Given the description of an element on the screen output the (x, y) to click on. 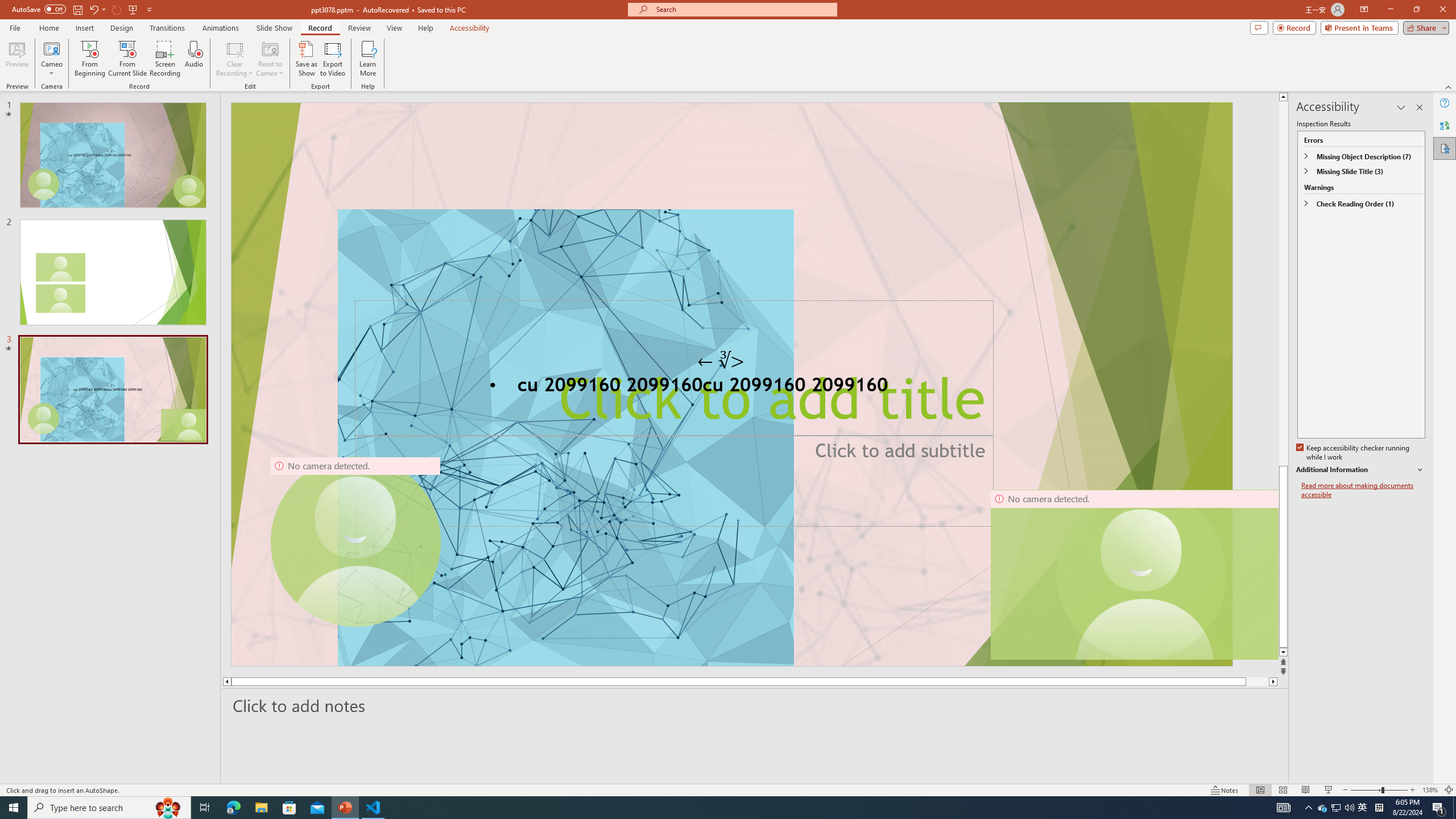
Learn More (368, 58)
